Given the description of an element on the screen output the (x, y) to click on. 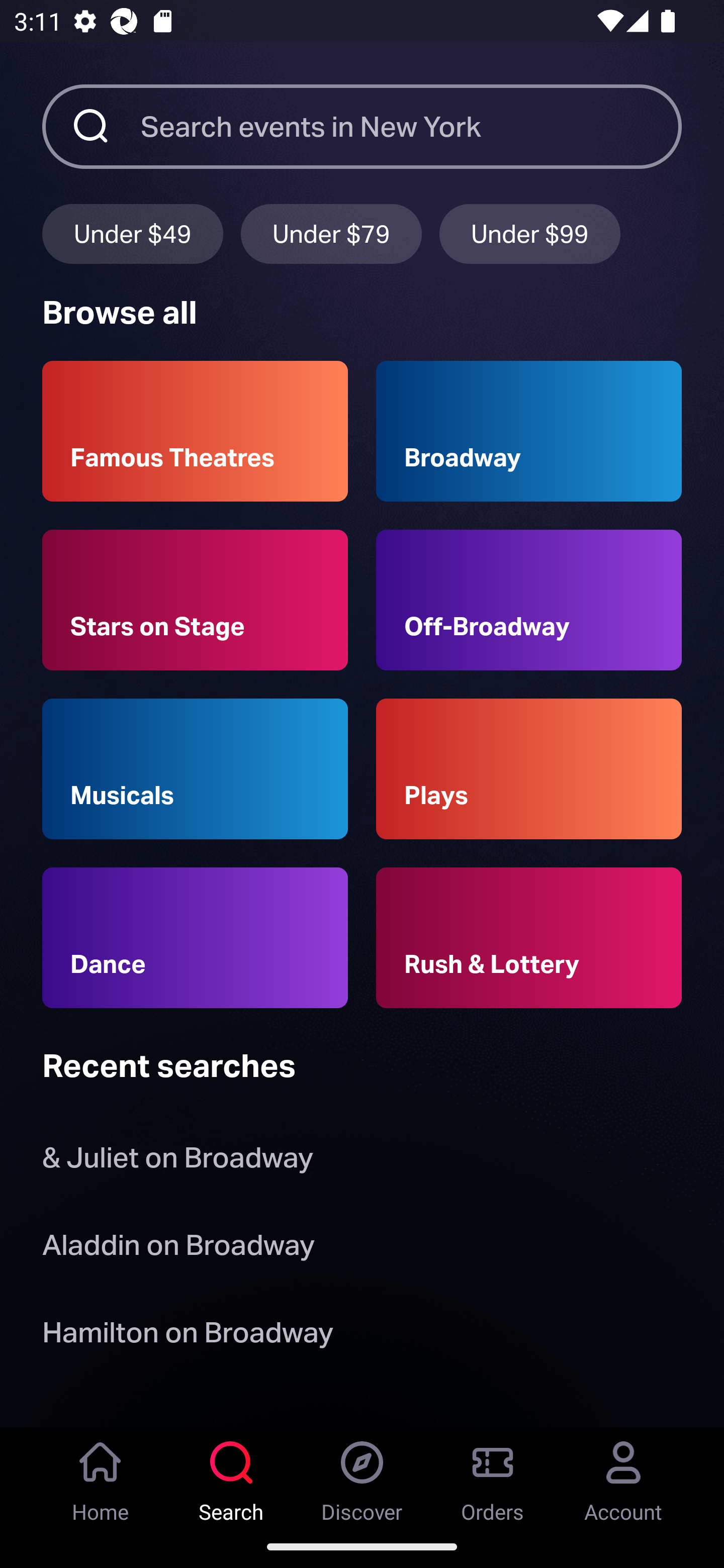
Search events in New York (411, 126)
Under $49 (131, 233)
Under $79 (331, 233)
Under $99 (529, 233)
Famous Theatres (194, 430)
Broadway (528, 430)
Stars on Stage (194, 600)
Off-Broadway (528, 600)
Musicals (194, 768)
Plays (528, 768)
Dance (194, 937)
Rush & Lottery (528, 937)
& Juliet on Broadway  (180, 1161)
Aladdin on Broadway (177, 1248)
Hamilton on Broadway (187, 1335)
Home (100, 1475)
Discover (361, 1475)
Orders (492, 1475)
Account (623, 1475)
